Given the description of an element on the screen output the (x, y) to click on. 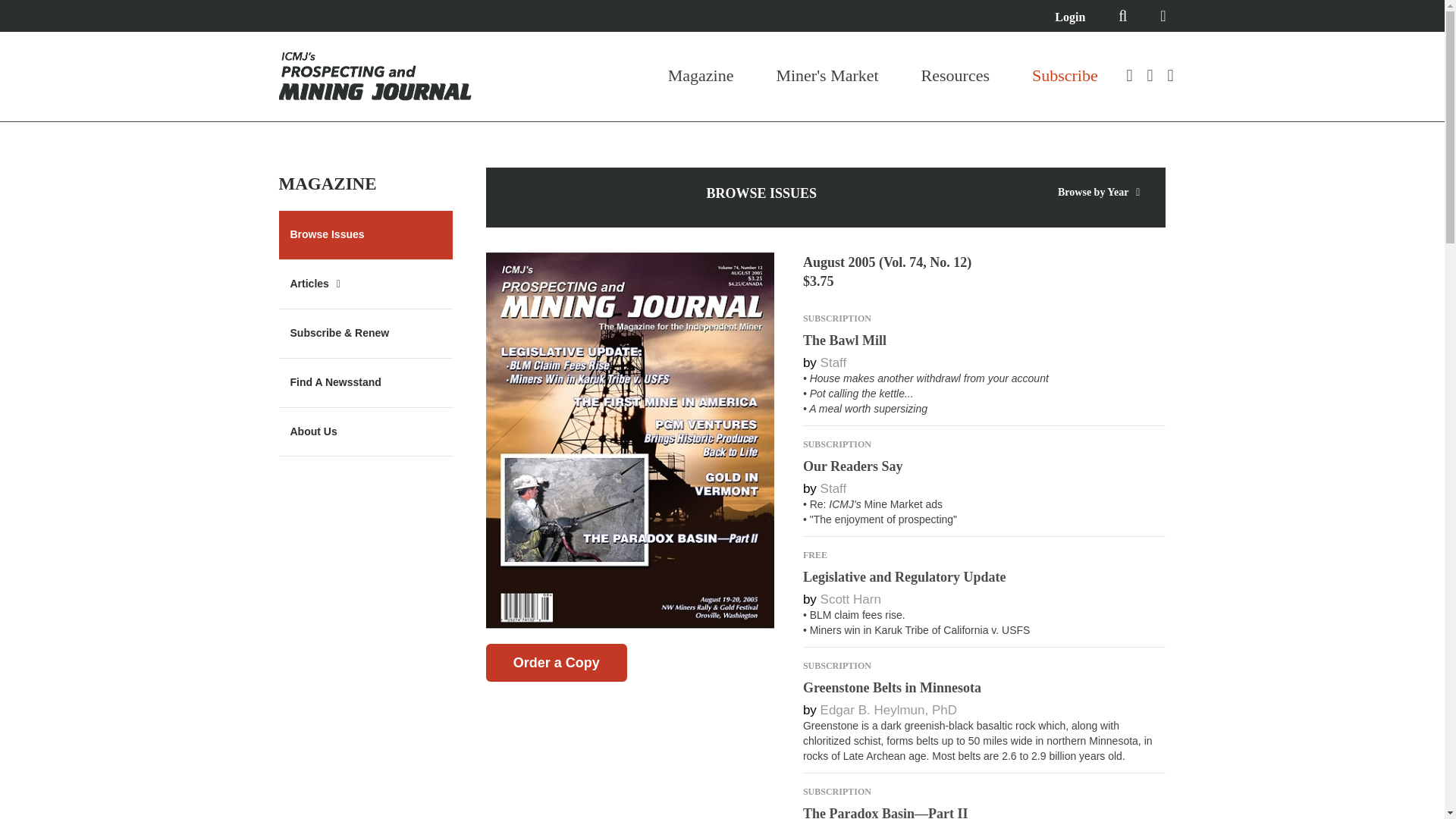
Login (1069, 16)
Miner's Market (826, 75)
Magazine (700, 75)
Resources (955, 75)
